Given the description of an element on the screen output the (x, y) to click on. 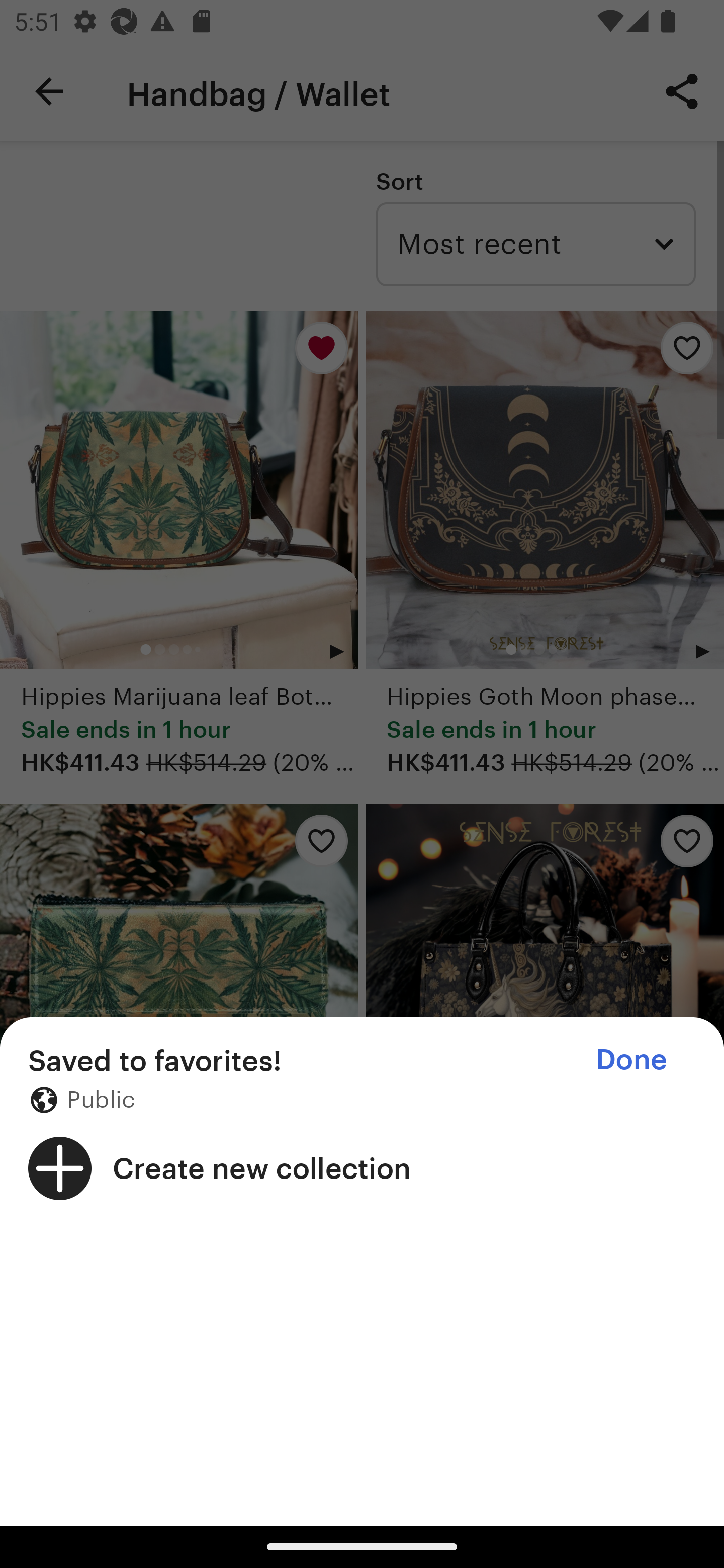
Done (630, 1059)
Create new collection (361, 1167)
